Given the description of an element on the screen output the (x, y) to click on. 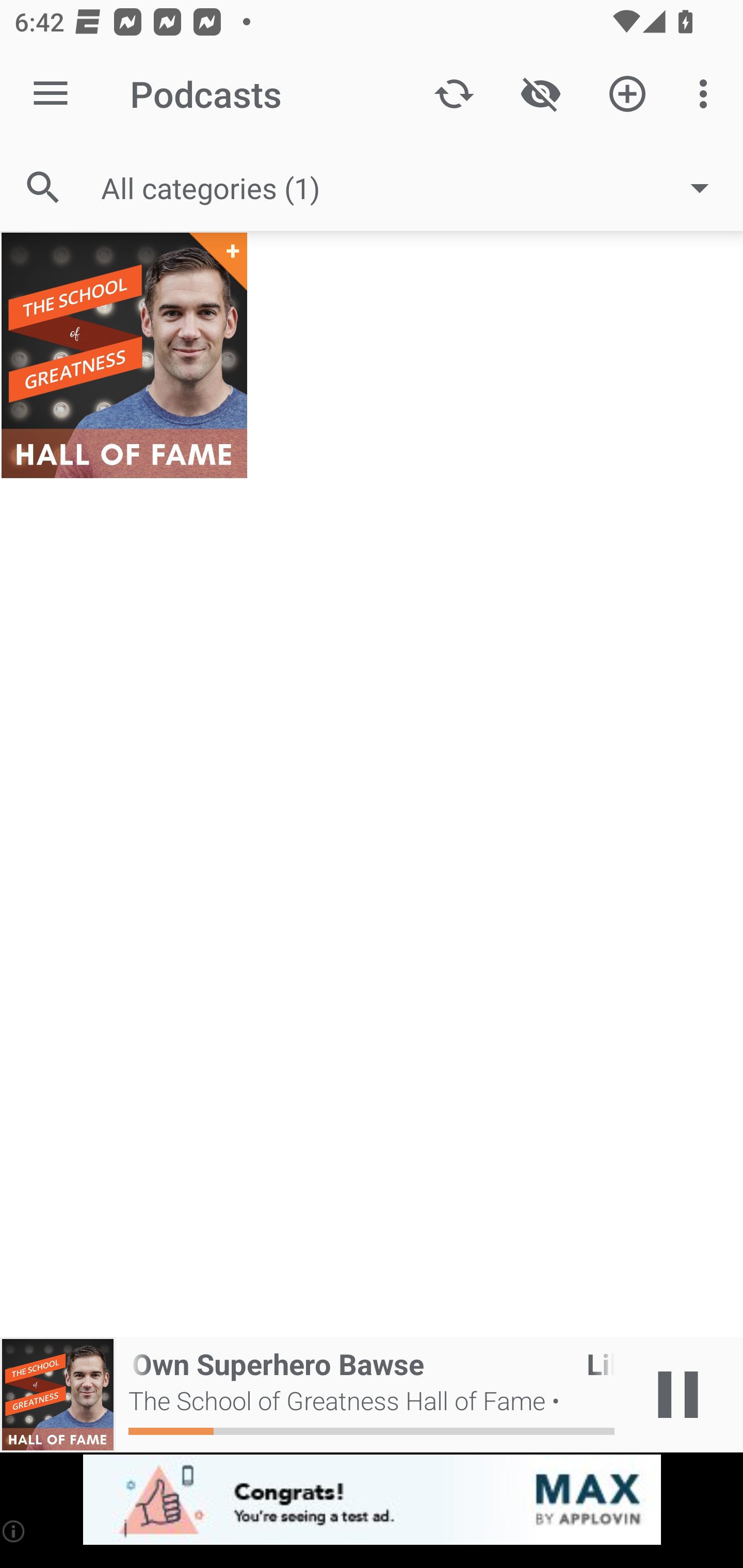
Open navigation sidebar (50, 93)
Update (453, 93)
Show / Hide played content (540, 93)
Add new Podcast (626, 93)
More options (706, 93)
Search (43, 187)
All categories (1) (414, 188)
The School of Greatness Hall of Fame + (124, 355)
Play / Pause (677, 1394)
app-monetization (371, 1500)
(i) (14, 1531)
